Given the description of an element on the screen output the (x, y) to click on. 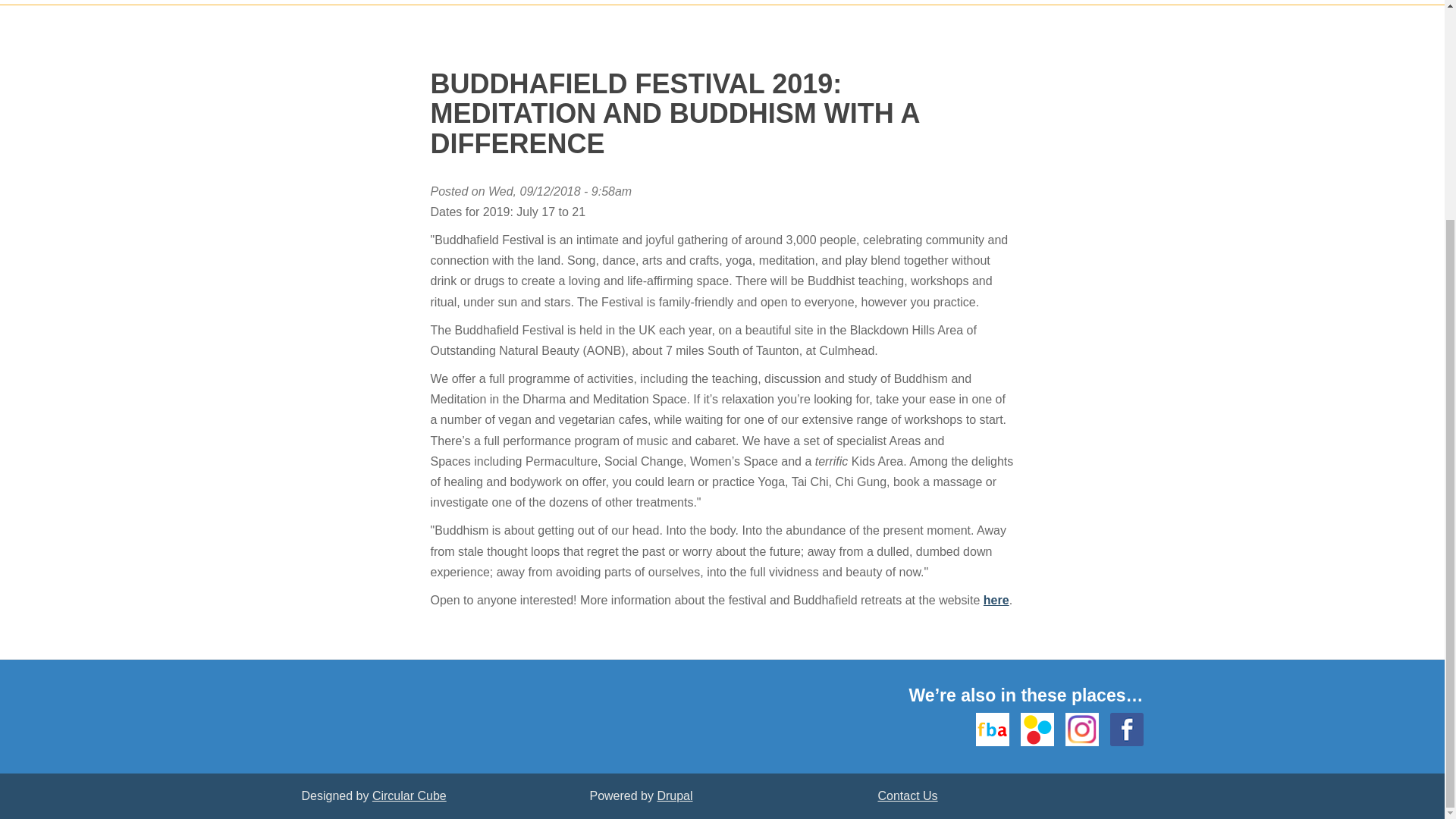
Meeting space (705, 2)
